Given the description of an element on the screen output the (x, y) to click on. 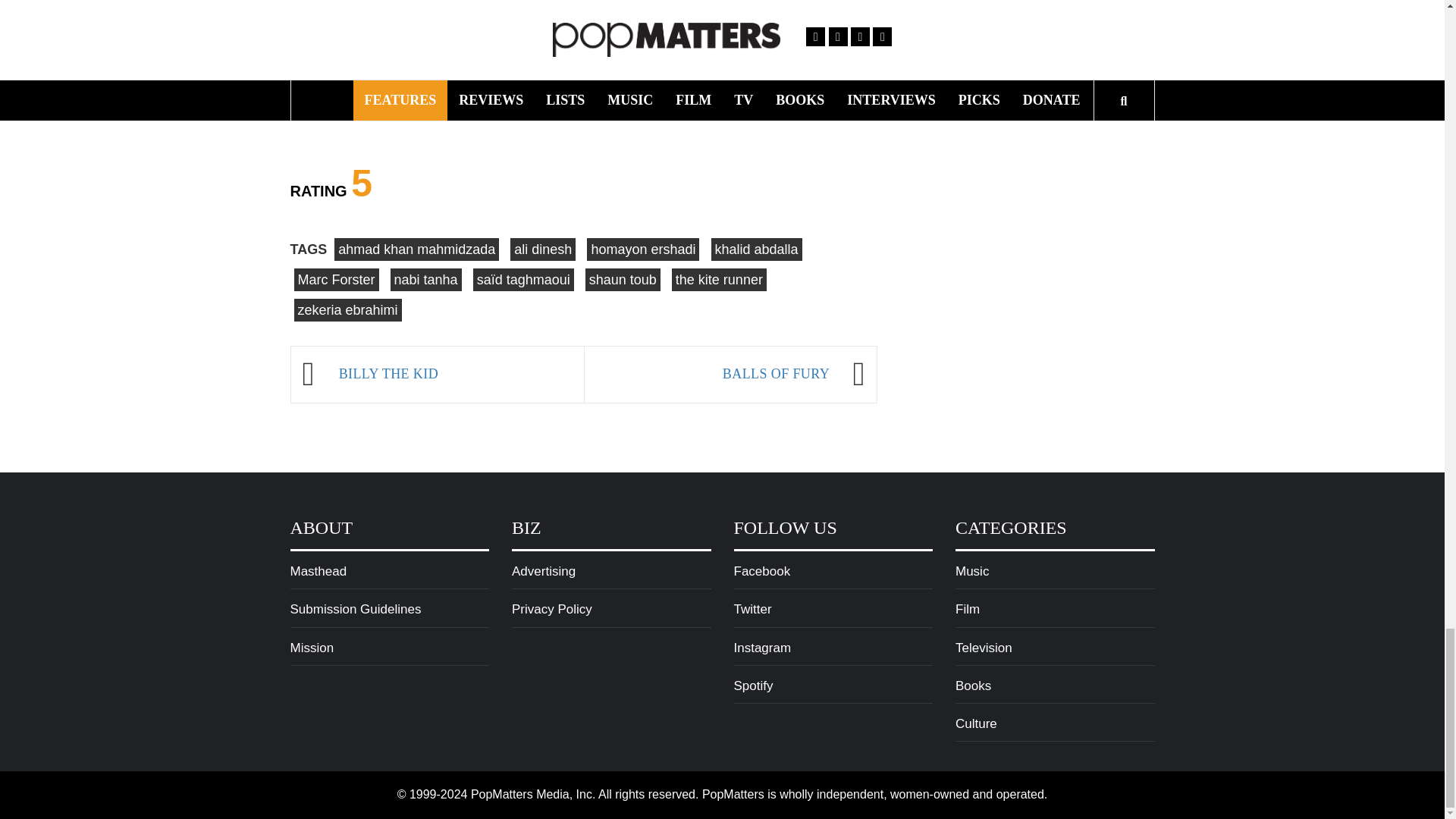
shaun toub (623, 279)
the kite runner (719, 279)
BILLY THE KID (453, 374)
BALLS OF FURY (713, 374)
Marc Forster (336, 279)
ahmad khan mahmidzada (416, 249)
nabi tanha (425, 279)
zekeria ebrahimi (347, 309)
khalid abdalla (756, 249)
ali dinesh (543, 249)
homayon ershadi (642, 249)
